Given the description of an element on the screen output the (x, y) to click on. 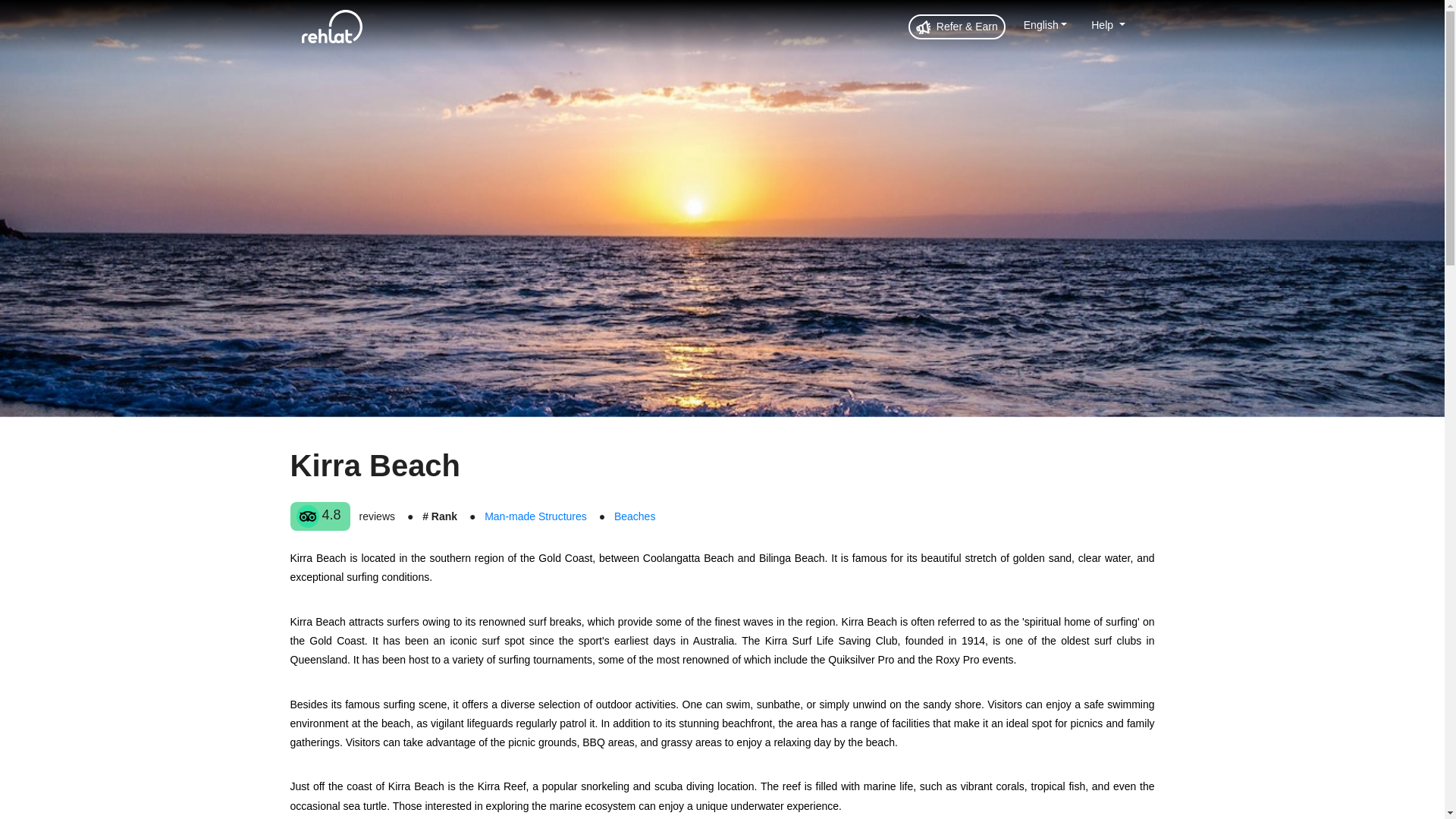
Man-made Structures (535, 516)
Beaches (634, 516)
Help (1107, 24)
English (1045, 24)
